Given the description of an element on the screen output the (x, y) to click on. 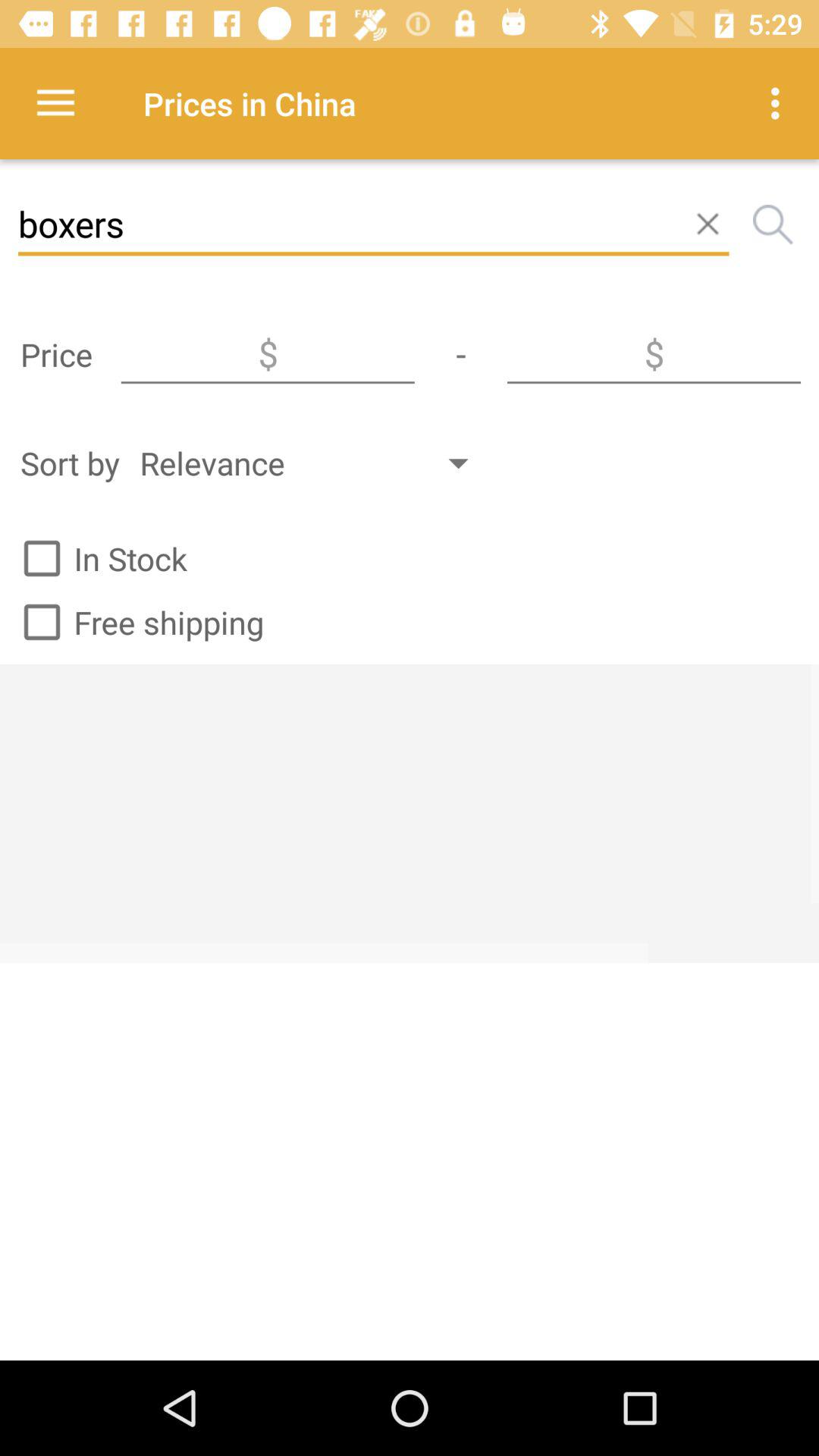
activate search (772, 224)
